Given the description of an element on the screen output the (x, y) to click on. 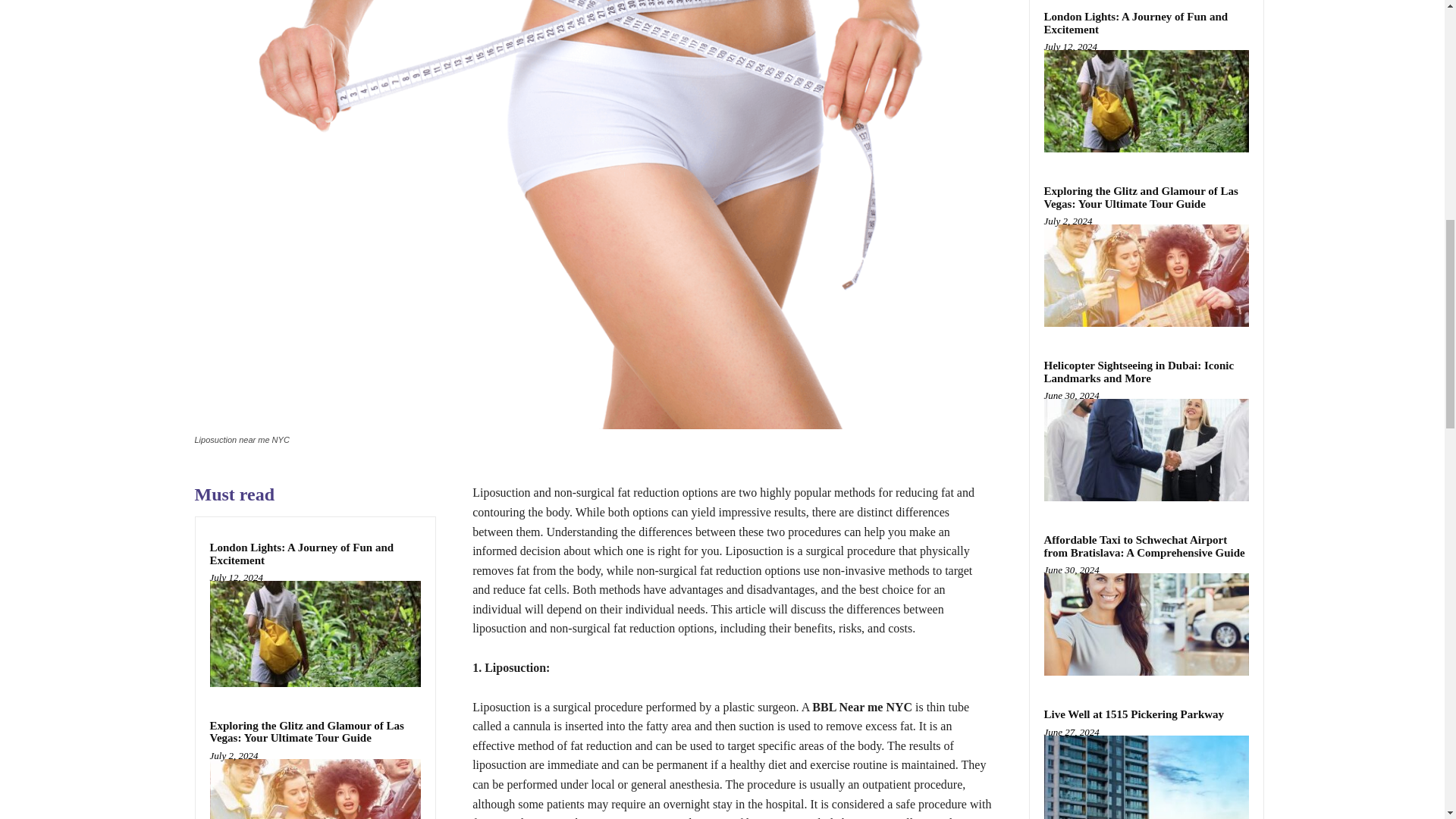
London Lights: A Journey of Fun and Excitement (301, 553)
London Lights: A Journey of Fun and Excitement (314, 633)
London Lights: A Journey of Fun and Excitement (301, 553)
